Given the description of an element on the screen output the (x, y) to click on. 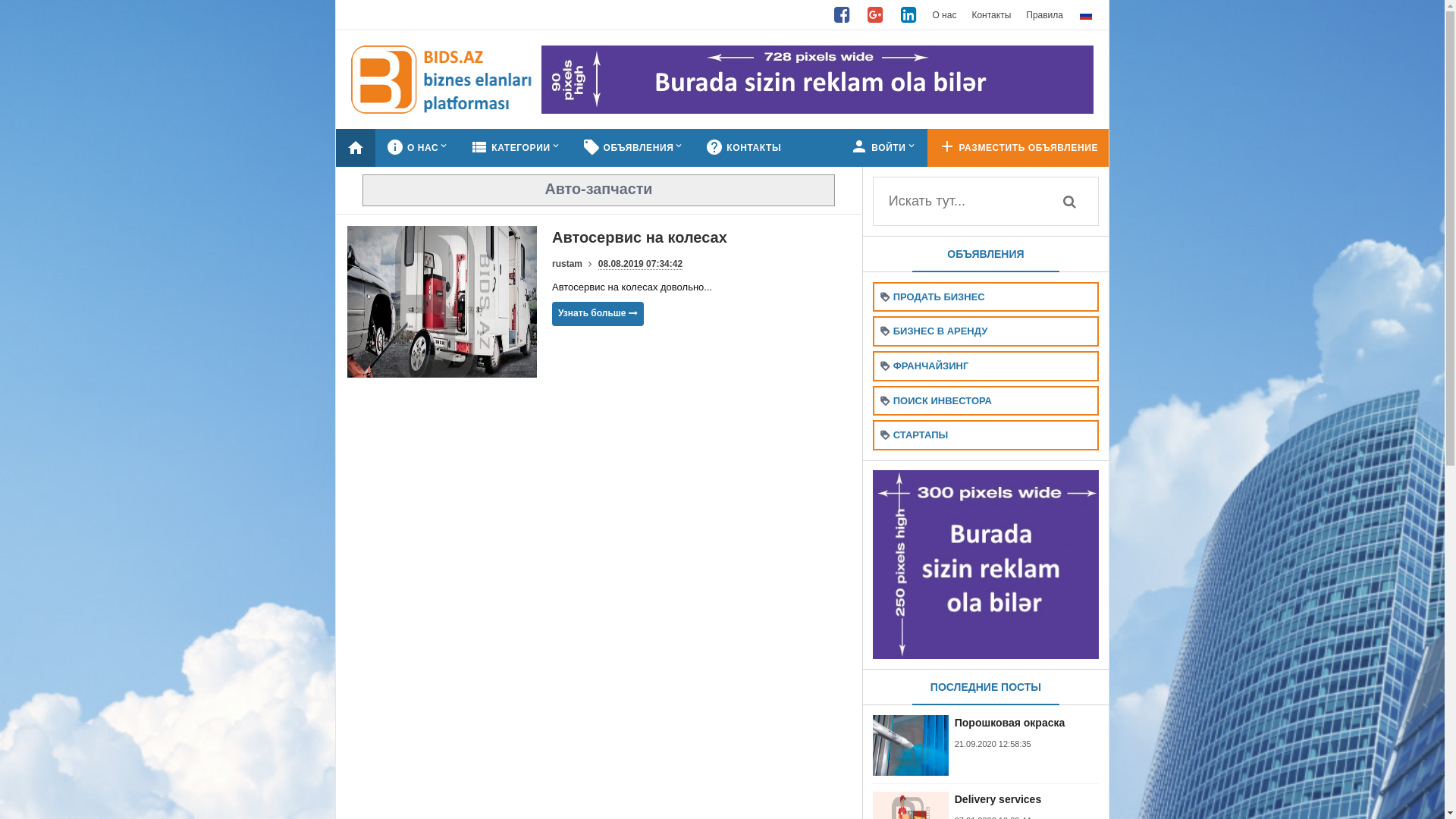
Ad 300x250 Element type: hover (985, 563)
rustam Element type: text (567, 263)
08.08.2019 07:34:42 Element type: text (640, 263)
Delivery services Element type: text (1026, 799)
home Element type: text (355, 147)
